Given the description of an element on the screen output the (x, y) to click on. 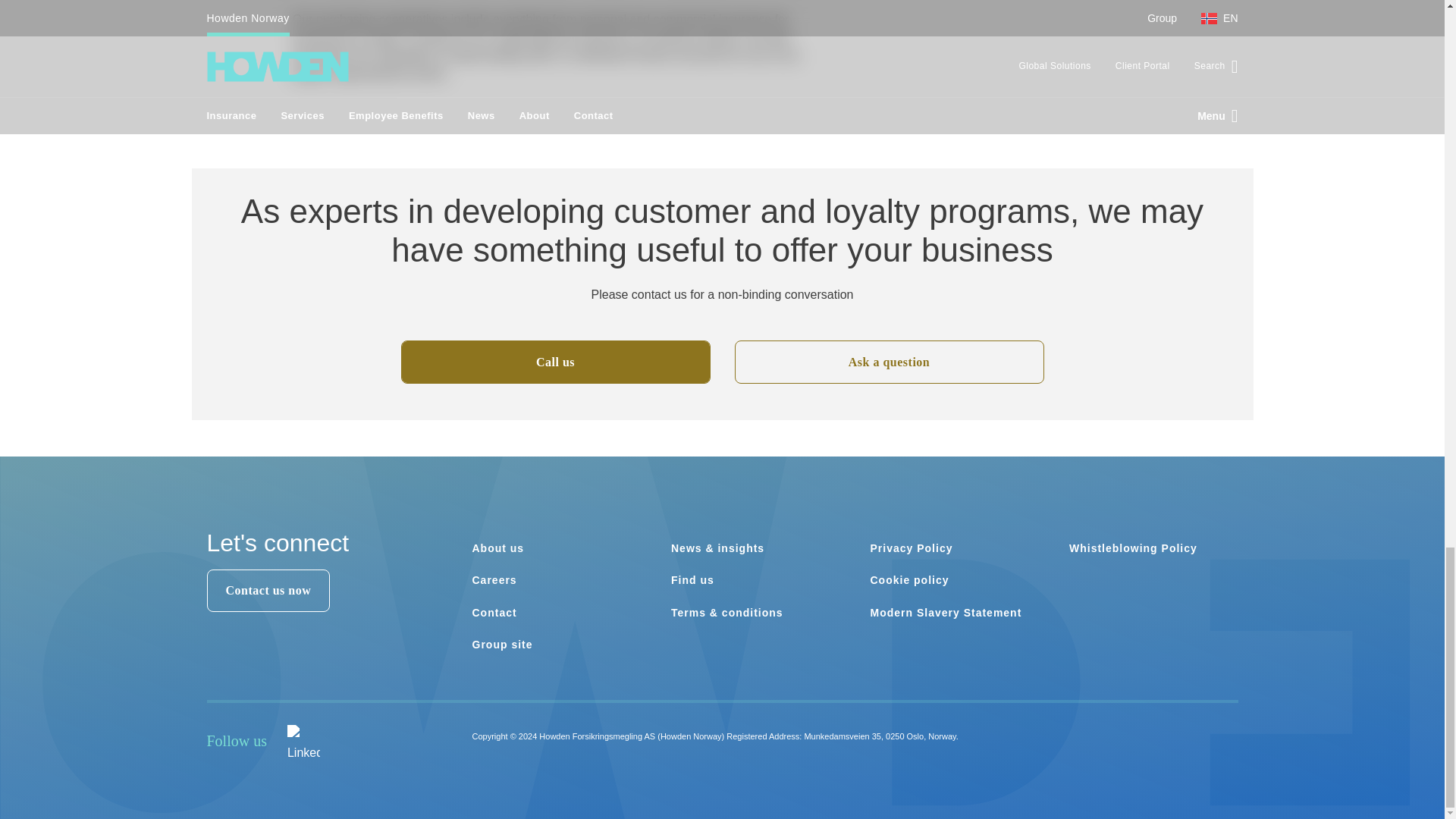
Group site (501, 644)
Contact (493, 612)
Whistleblowing Policy (1132, 548)
Privacy Policy (911, 548)
Modern Slavery Statement (946, 612)
About us (497, 548)
Cookie policy (909, 580)
Careers (493, 580)
Find us (692, 580)
